Given the description of an element on the screen output the (x, y) to click on. 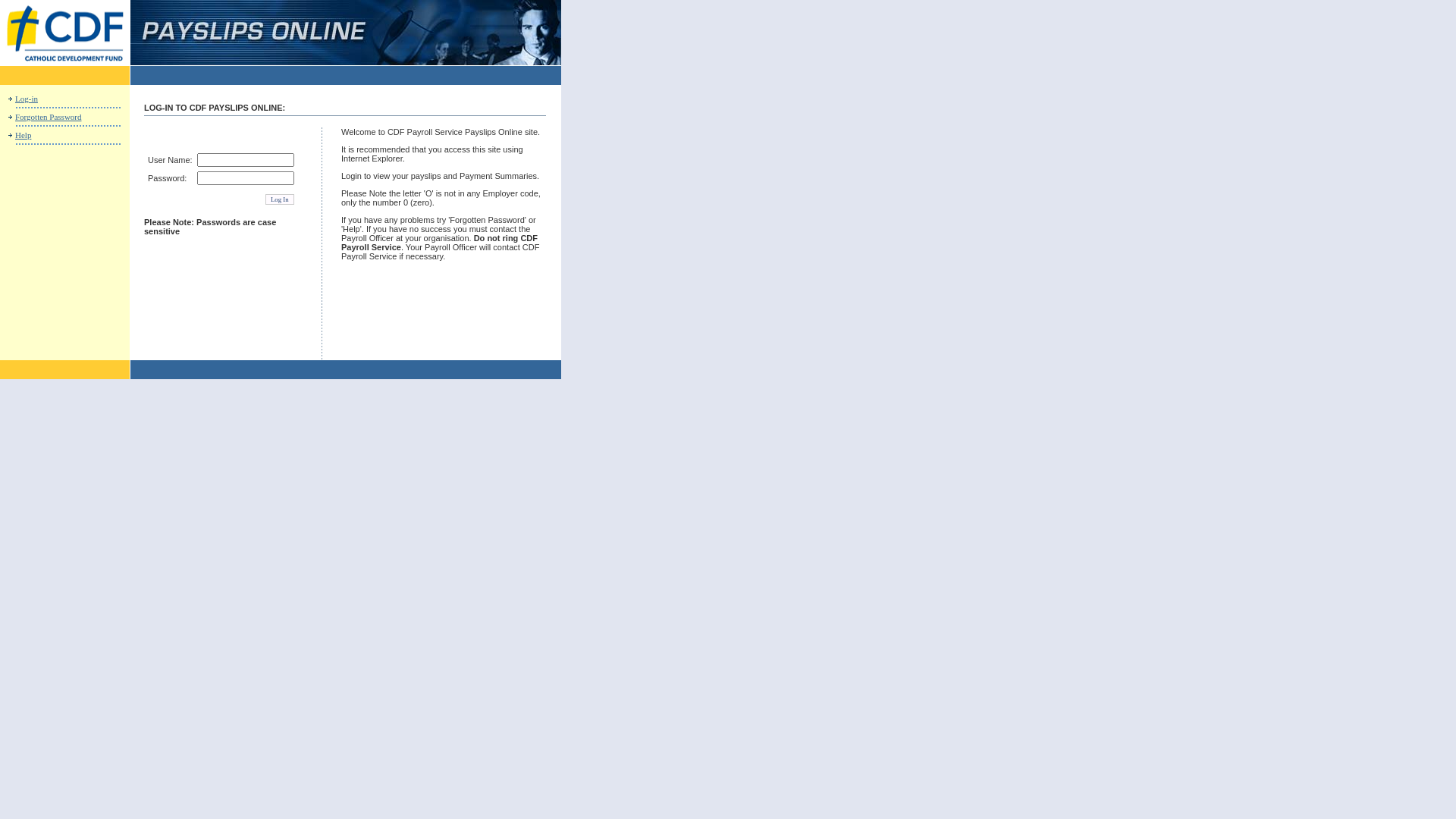
Log-in Element type: text (26, 98)
Log In Element type: text (279, 199)
Forgotten Password Element type: text (48, 116)
Help Element type: text (23, 134)
